Given the description of an element on the screen output the (x, y) to click on. 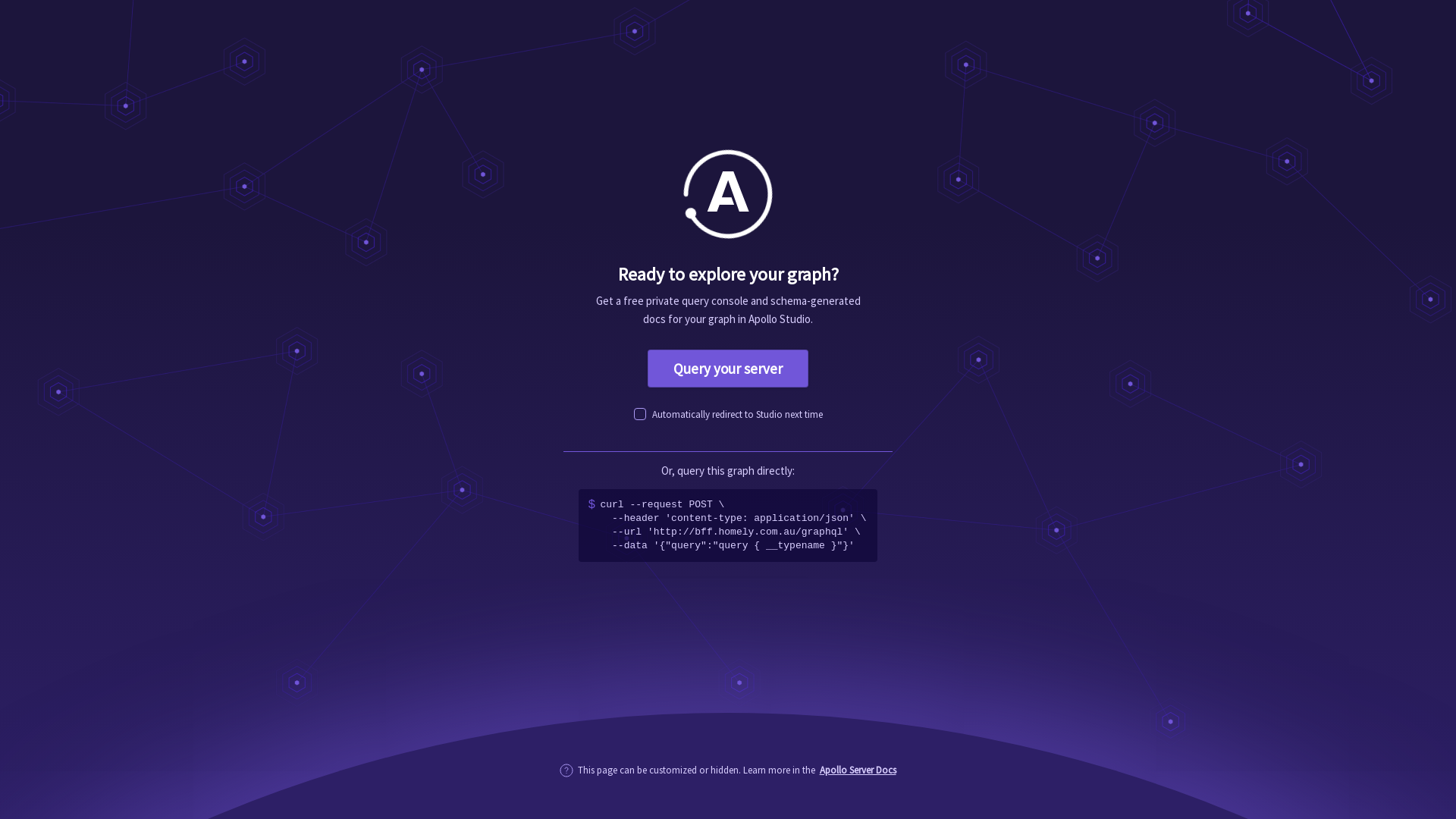
Apollo Server Docs Element type: text (857, 770)
Query your server Element type: text (727, 368)
